Given the description of an element on the screen output the (x, y) to click on. 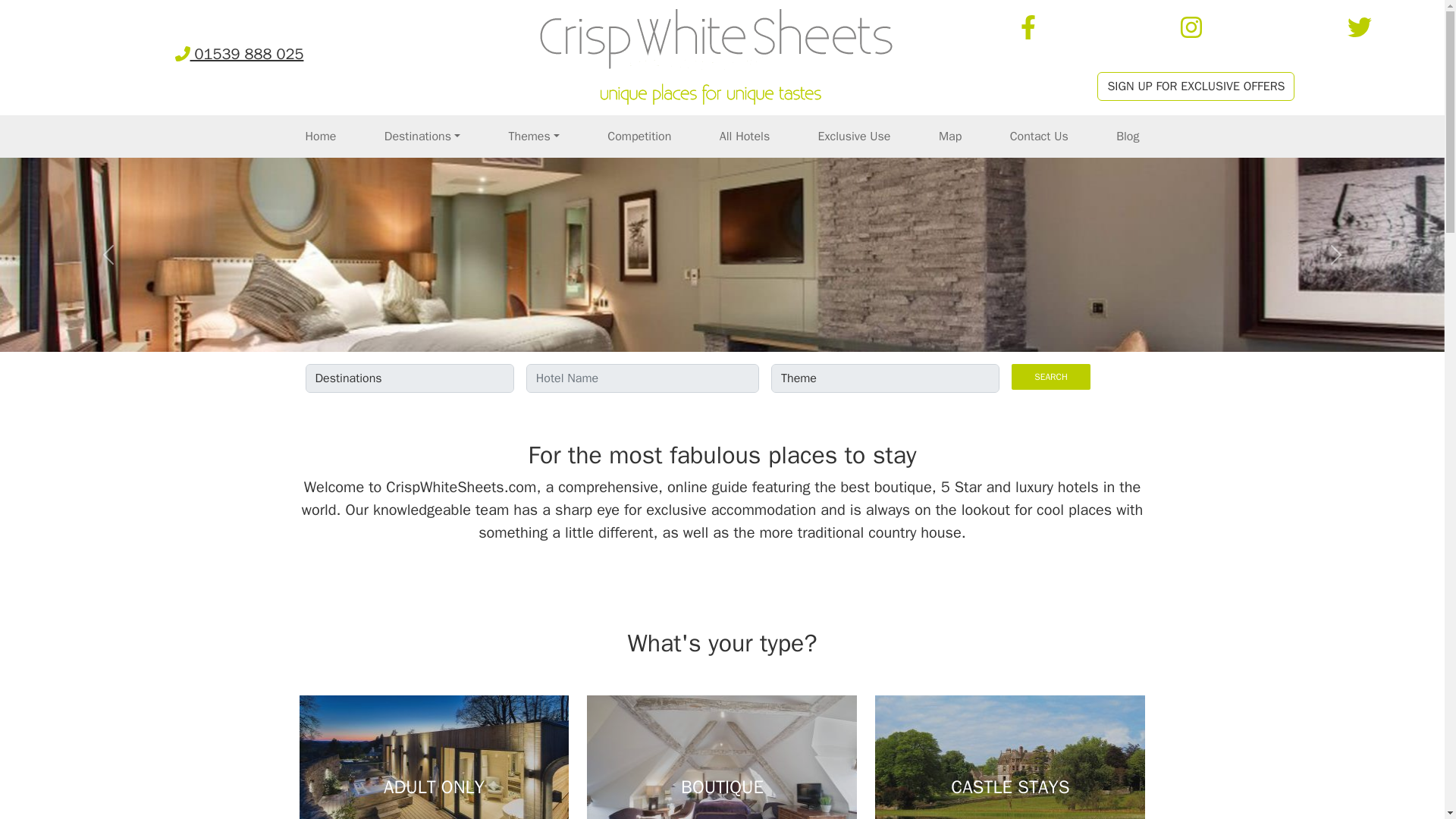
01539 888 025 (239, 54)
Destinations (421, 136)
Themes (533, 136)
SIGN UP FOR EXCLUSIVE OFFERS (1195, 86)
Destinations (421, 136)
Home (320, 136)
Home (320, 136)
